Given the description of an element on the screen output the (x, y) to click on. 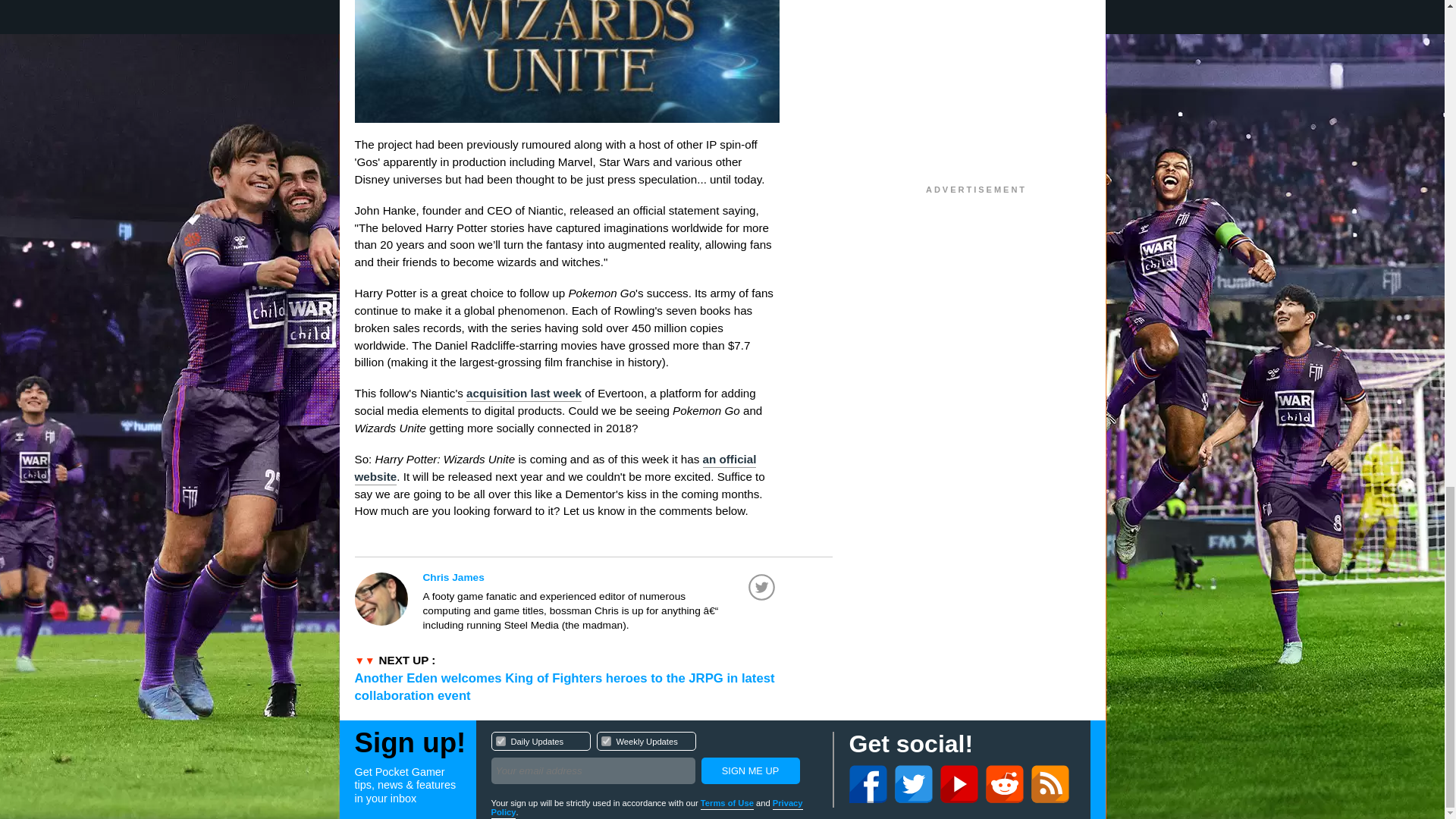
2 (604, 741)
Chris James (600, 577)
an official website (556, 468)
Sign Me Up (749, 770)
1 (500, 741)
acquisition last week (654, 759)
